Given the description of an element on the screen output the (x, y) to click on. 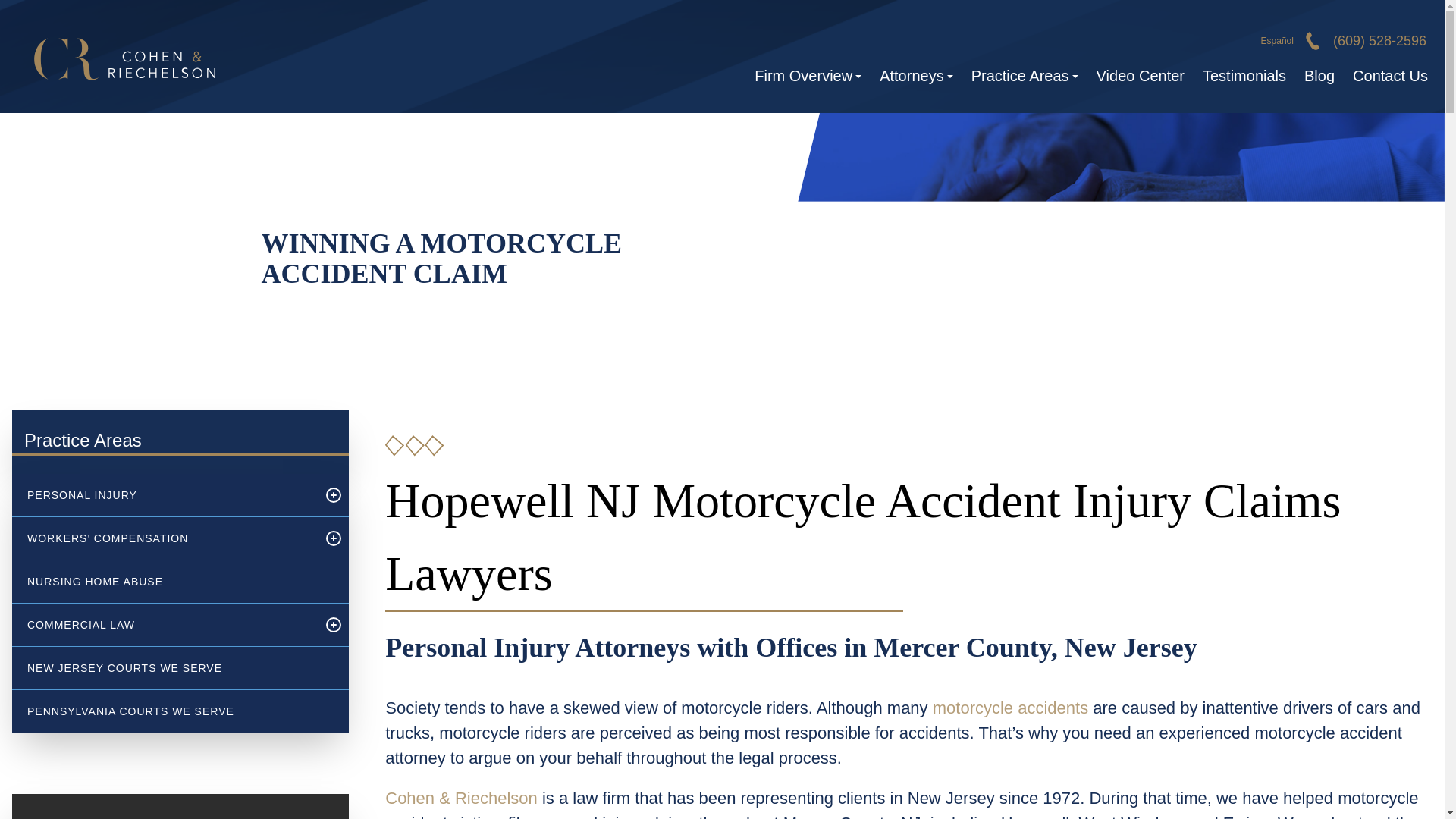
Practice Areas (1024, 75)
Video Center (1140, 75)
Firm Overview (807, 75)
Blog (1319, 75)
Motorcycle Accidents (1010, 707)
Contact Us (1385, 75)
Attorneys (915, 75)
motorcycle accidents (1010, 707)
Testimonials (1244, 75)
CR Law Firm (123, 56)
